Given the description of an element on the screen output the (x, y) to click on. 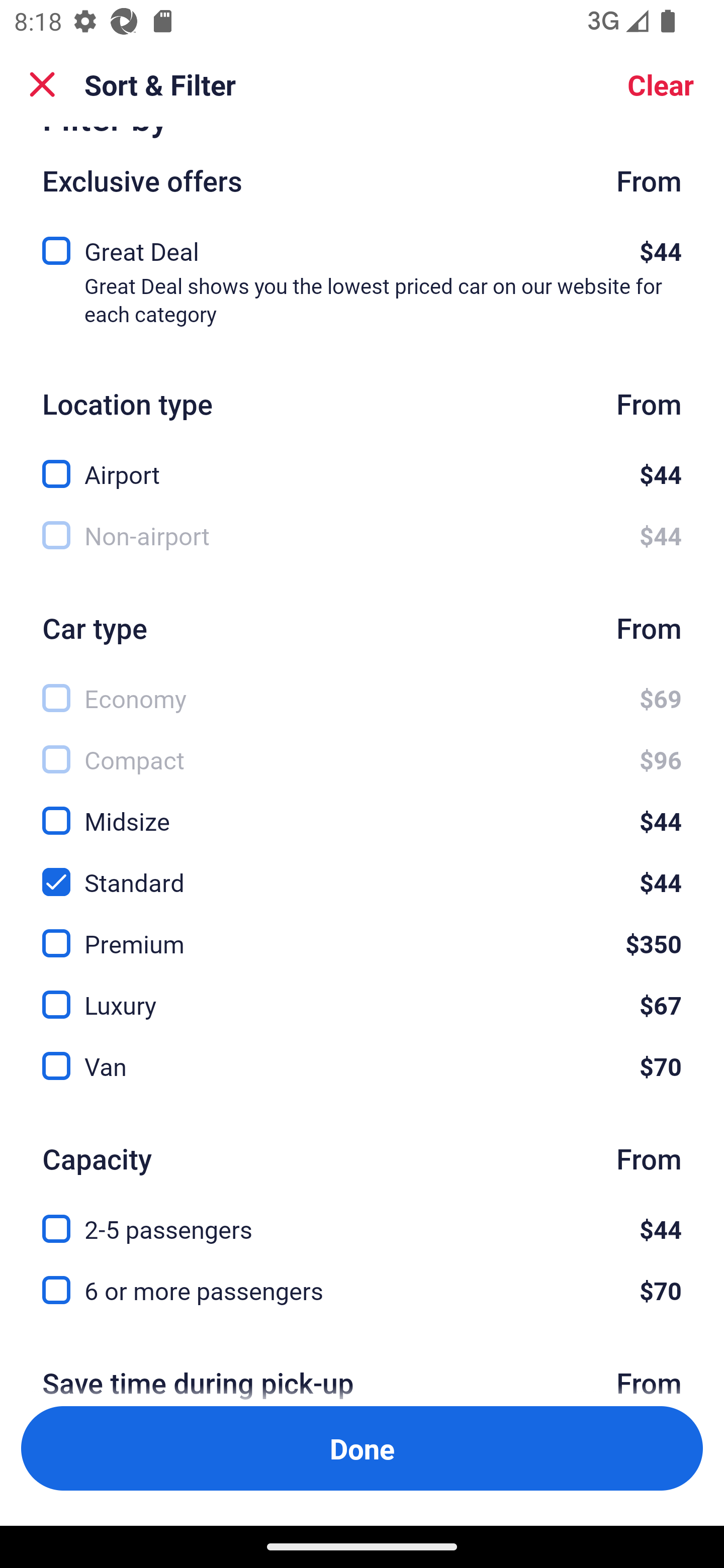
Close Sort and Filter (42, 84)
Clear (660, 84)
Airport, $44 Airport $44 (361, 462)
Non-airport, $44 Non-airport $44 (361, 535)
Economy, $69 Economy $69 (361, 687)
Compact, $96 Compact $96 (361, 748)
Midsize, $44 Midsize $44 (361, 809)
Standard, $44 Standard $44 (361, 870)
Premium, $350 Premium $350 (361, 931)
Luxury, $67 Luxury $67 (361, 992)
Van, $70 Van $70 (361, 1065)
2-5 passengers, $44 2-5 passengers $44 (361, 1217)
6 or more passengers, $70 6 or more passengers $70 (361, 1290)
Apply and close Sort and Filter Done (361, 1448)
